Given the description of an element on the screen output the (x, y) to click on. 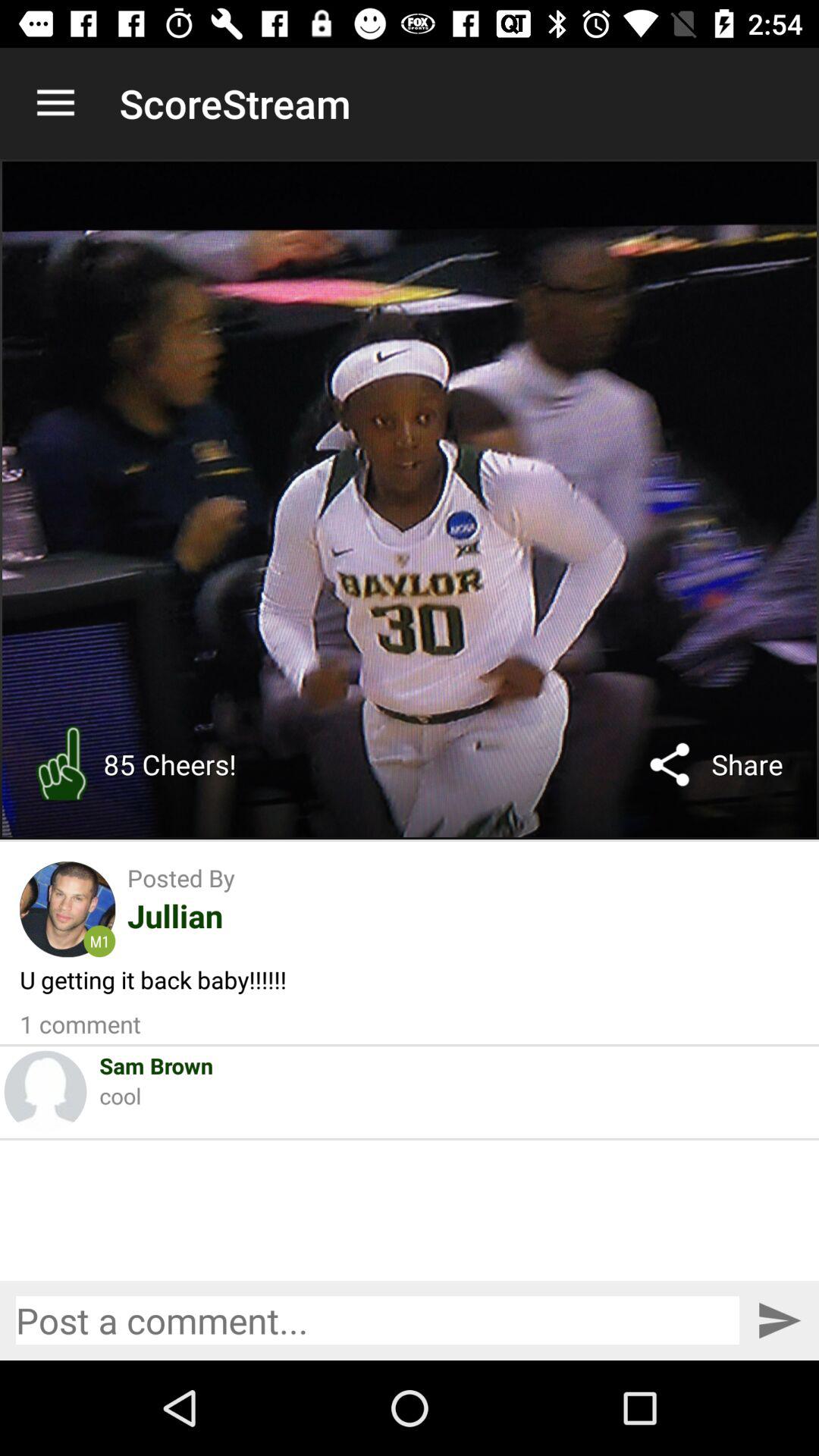
click icon above the u getting it icon (67, 909)
